Given the description of an element on the screen output the (x, y) to click on. 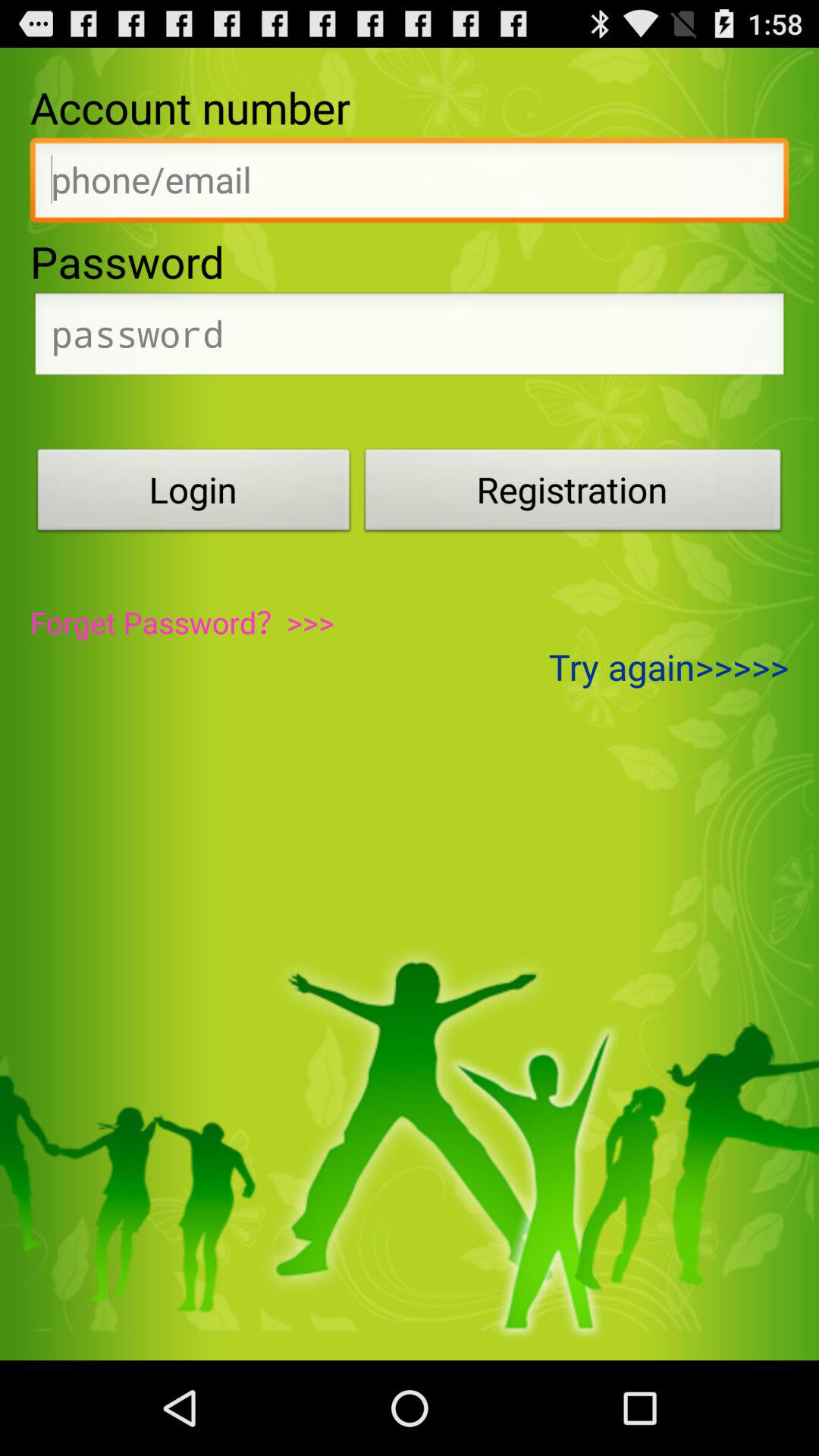
input account number (409, 184)
